Given the description of an element on the screen output the (x, y) to click on. 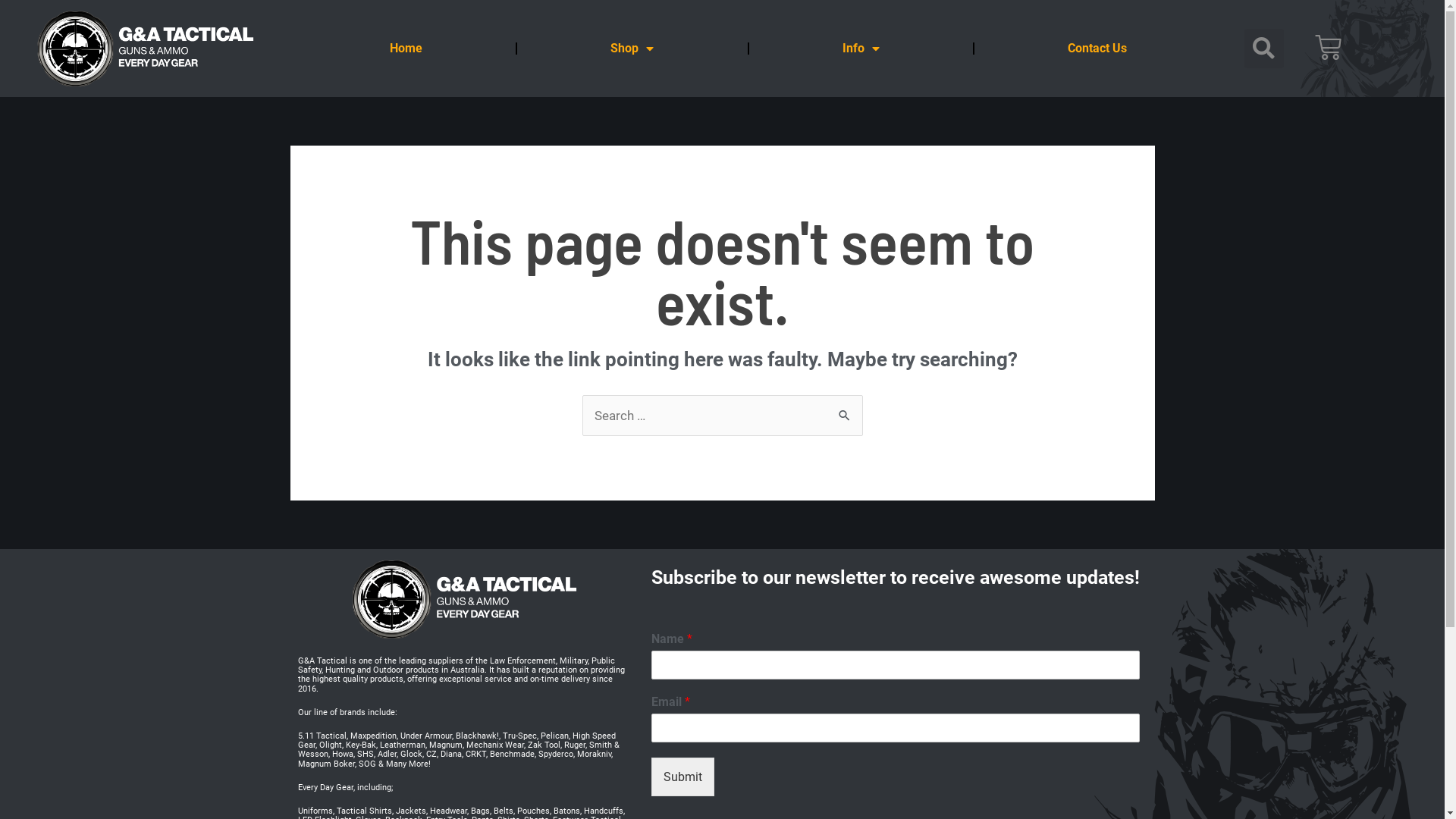
Search Element type: text (845, 417)
Info Element type: text (860, 48)
Contact Us Element type: text (1097, 48)
Home Element type: text (405, 48)
Shop Element type: text (631, 48)
Submit Element type: text (681, 777)
